Given the description of an element on the screen output the (x, y) to click on. 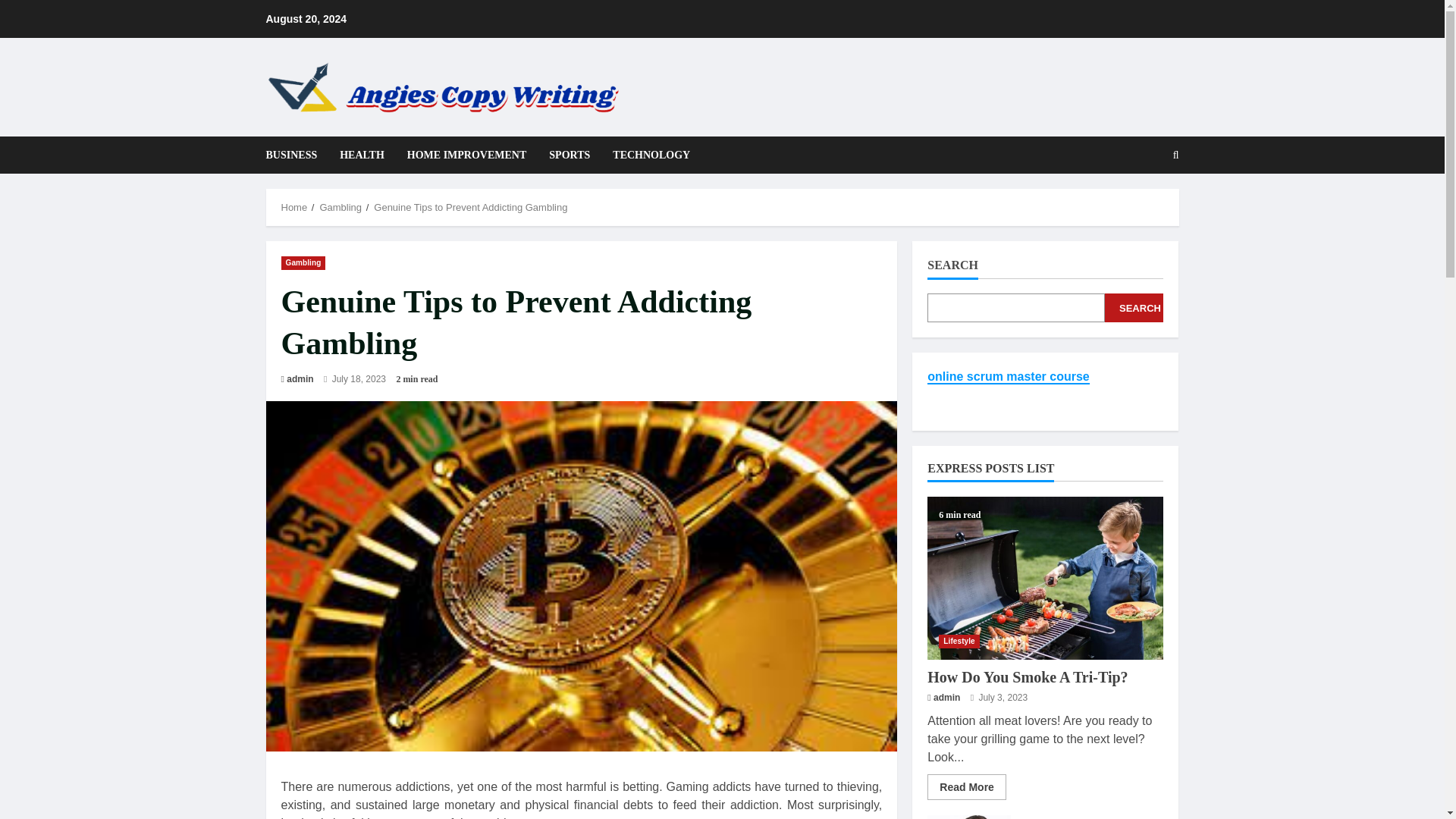
Home (294, 206)
HEALTH (362, 154)
Gambling (302, 263)
TECHNOLOGY (645, 154)
Genuine Tips to Prevent Addicting Gambling (470, 206)
HOME IMPROVEMENT (467, 154)
Gambling (339, 206)
Lifestyle (958, 641)
How Do You Smoke A Tri-Tip? (1045, 578)
admin (299, 378)
